Given the description of an element on the screen output the (x, y) to click on. 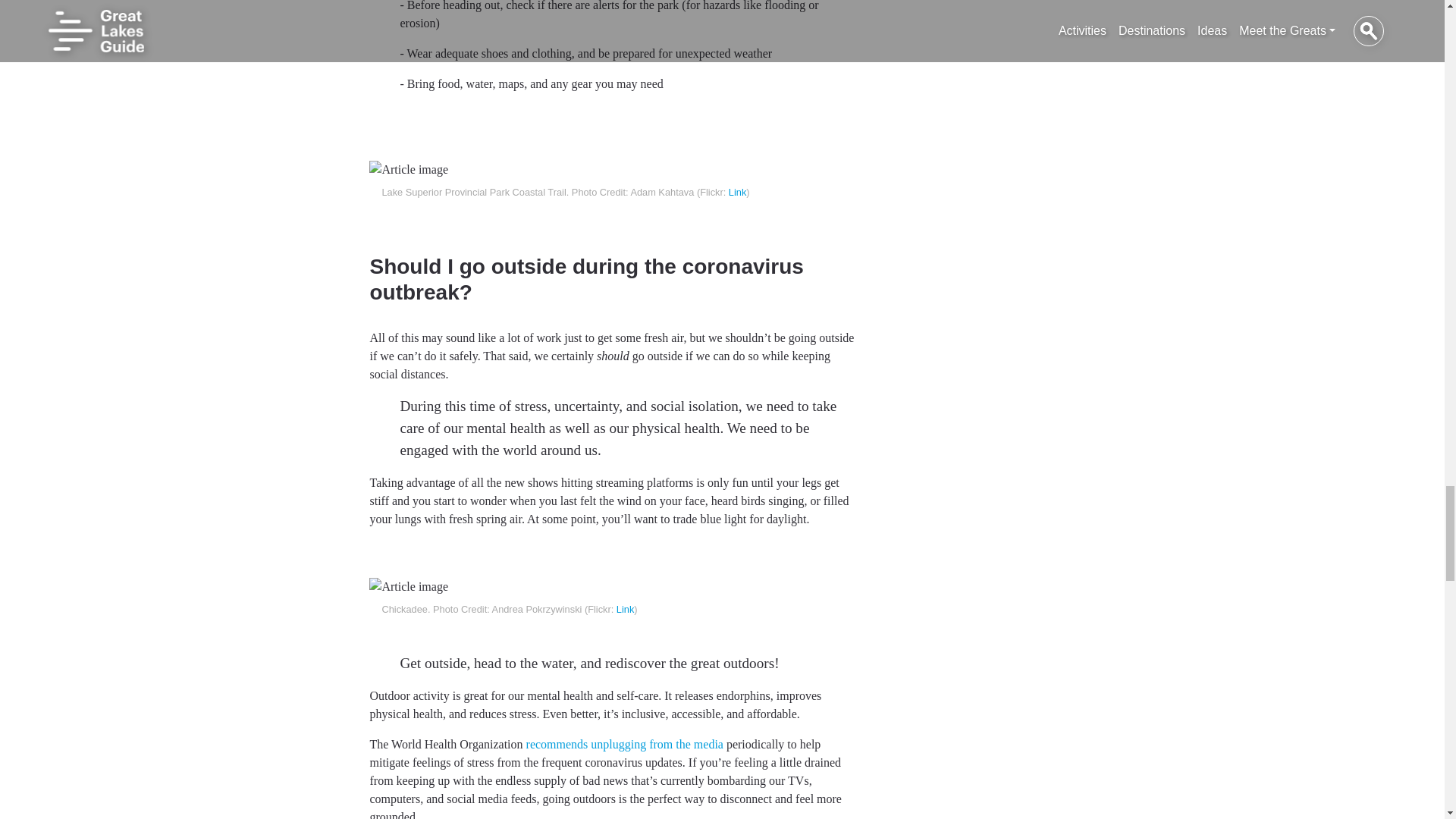
Link (737, 192)
